Given the description of an element on the screen output the (x, y) to click on. 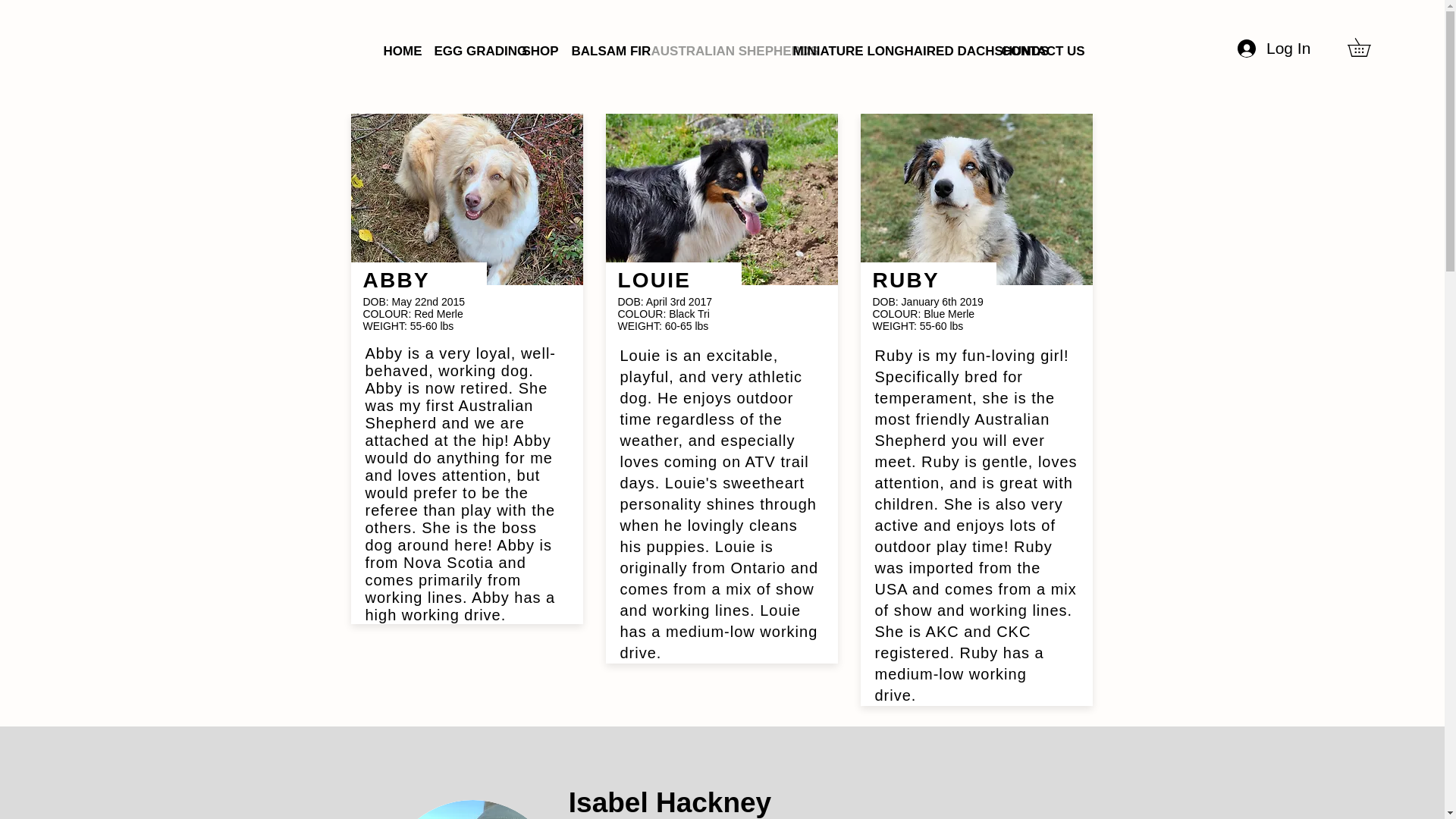
MINIATURE LONGHAIRED DACHSHUNDS (885, 51)
AUSTRALIAN SHEPHERDS (710, 51)
CONTACT US (1031, 51)
GettyImages-535587703.jpg (471, 809)
SHOP (535, 51)
Log In (1270, 47)
HOME (396, 51)
EGG GRADING (467, 51)
BALSAM FIR (599, 51)
